Given the description of an element on the screen output the (x, y) to click on. 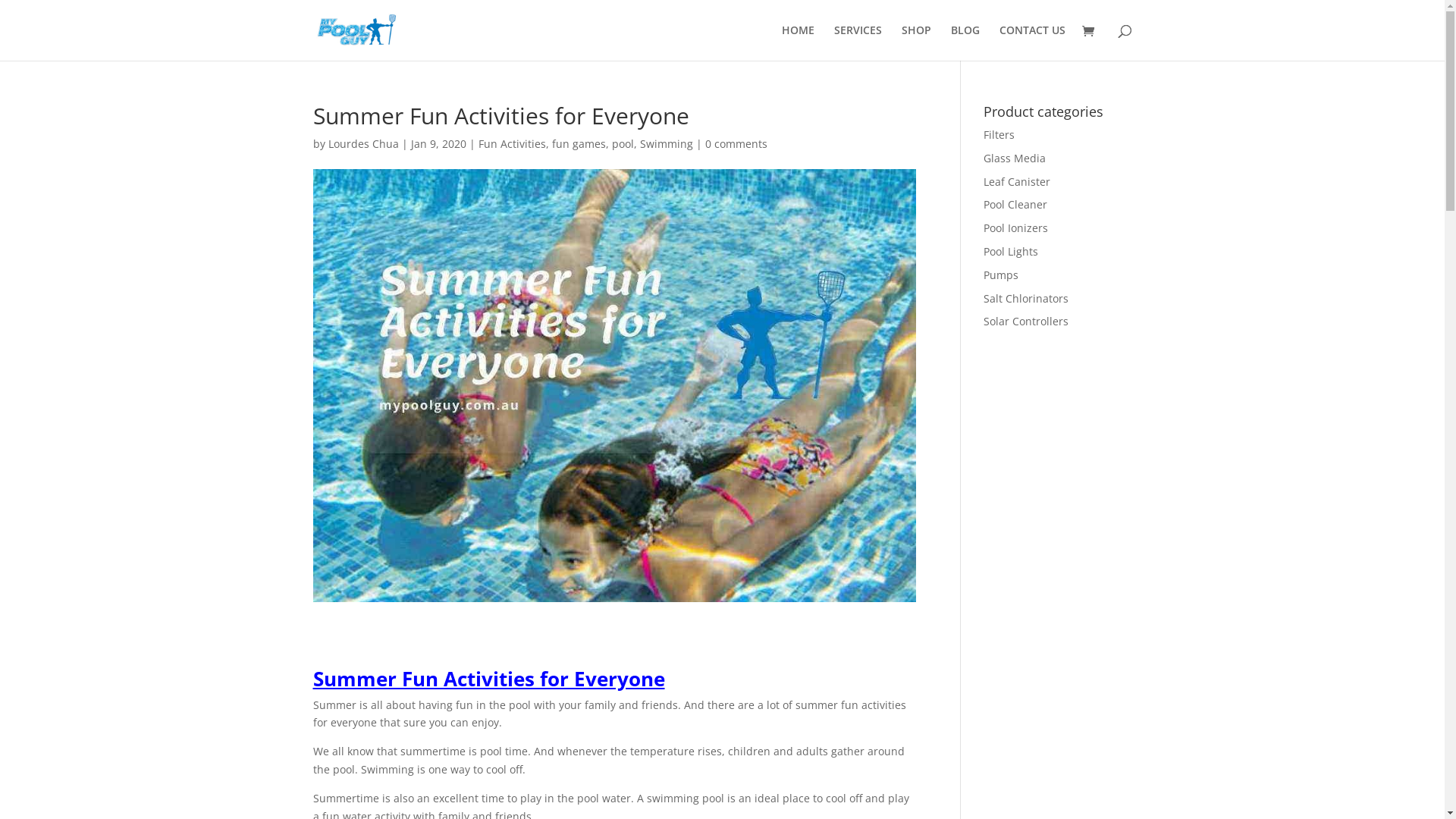
fun games Element type: text (578, 143)
Pool Lights Element type: text (1010, 251)
Swimming Element type: text (666, 143)
Pool Ionizers Element type: text (1015, 227)
Lourdes Chua Element type: text (362, 143)
HOME Element type: text (797, 42)
CONTACT US Element type: text (1032, 42)
Solar Controllers Element type: text (1025, 320)
Filters Element type: text (998, 134)
Leaf Canister Element type: text (1016, 181)
Salt Chlorinators Element type: text (1025, 298)
0 comments Element type: text (736, 143)
Pool Cleaner Element type: text (1015, 204)
SHOP Element type: text (915, 42)
Glass Media Element type: text (1014, 157)
Fun Activities Element type: text (511, 143)
pool Element type: text (622, 143)
SERVICES Element type: text (857, 42)
Pumps Element type: text (1000, 274)
BLOG Element type: text (964, 42)
